Given the description of an element on the screen output the (x, y) to click on. 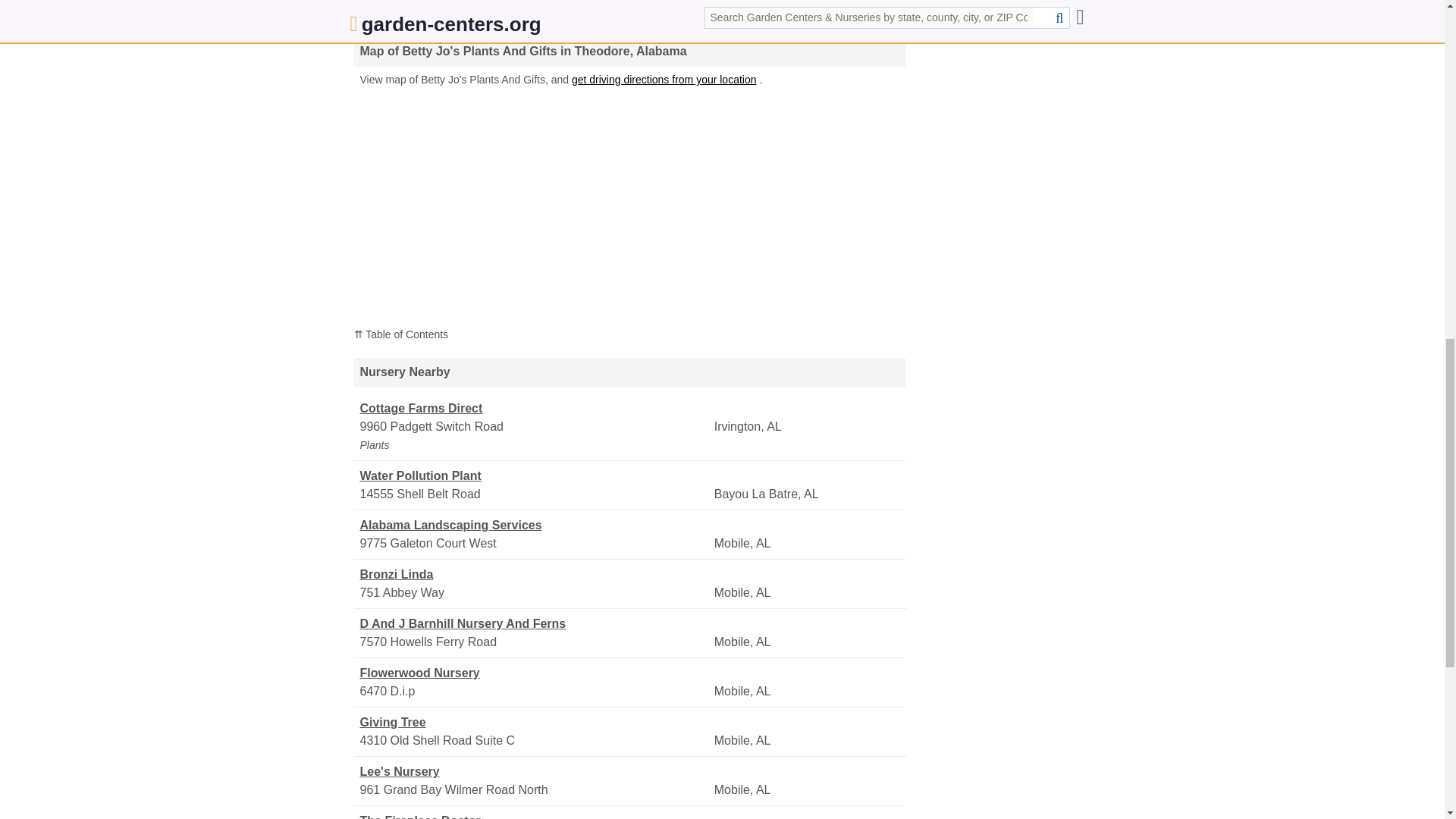
get driving directions from your location (664, 79)
The Fireplace Doctor (534, 815)
Cottage Farms Direct in Irvington, Alabama (534, 408)
D And J Barnhill Nursery And Ferns in Mobile, Alabama (534, 624)
Water Pollution Plant in Bayou La Batre, Alabama (534, 475)
D And J Barnhill Nursery And Ferns (534, 624)
Advertisement (629, 11)
Flowerwood Nursery (534, 673)
Bronzi Linda in Mobile, Alabama (534, 574)
Cottage Farms Direct (534, 408)
Alabama Landscaping Services (534, 525)
Lee's Nursery (534, 771)
Water Pollution Plant (534, 475)
Alabama Landscaping Services in Mobile, Alabama (534, 525)
Bronzi Linda (534, 574)
